Given the description of an element on the screen output the (x, y) to click on. 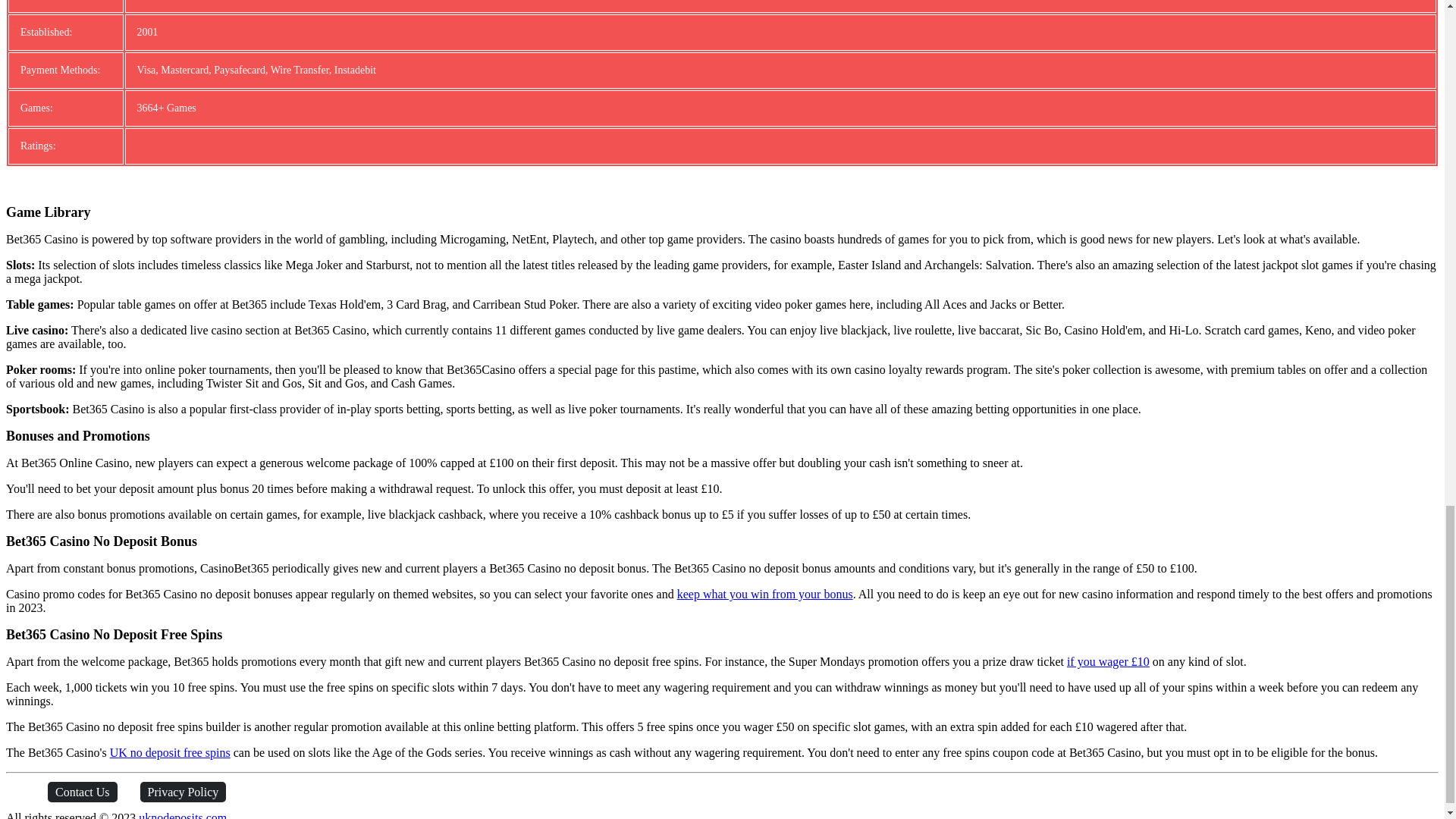
Contact Us (82, 792)
keep what you win from your bonus (765, 594)
Privacy Policy (183, 792)
UK no deposit free spins (170, 752)
